Given the description of an element on the screen output the (x, y) to click on. 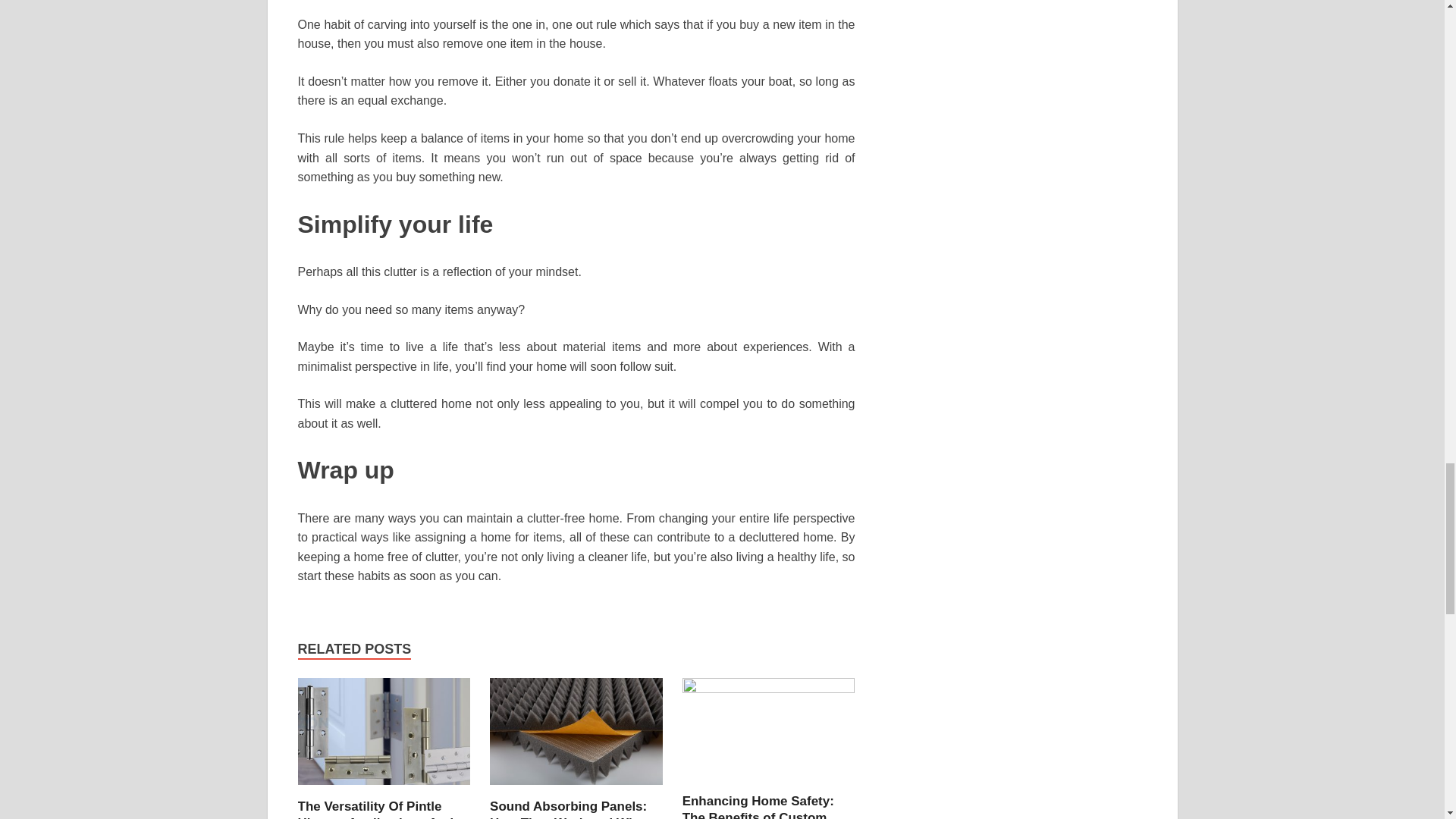
Sound Absorbing Panels: How They Work and Why You Need Them (567, 809)
Sound Absorbing Panels: How They Work and Why You Need Them (575, 788)
The Versatility Of Pintle Hinges: Applications And Benefits (383, 788)
The Versatility Of Pintle Hinges: Applications And Benefits (374, 809)
